Given the description of an element on the screen output the (x, y) to click on. 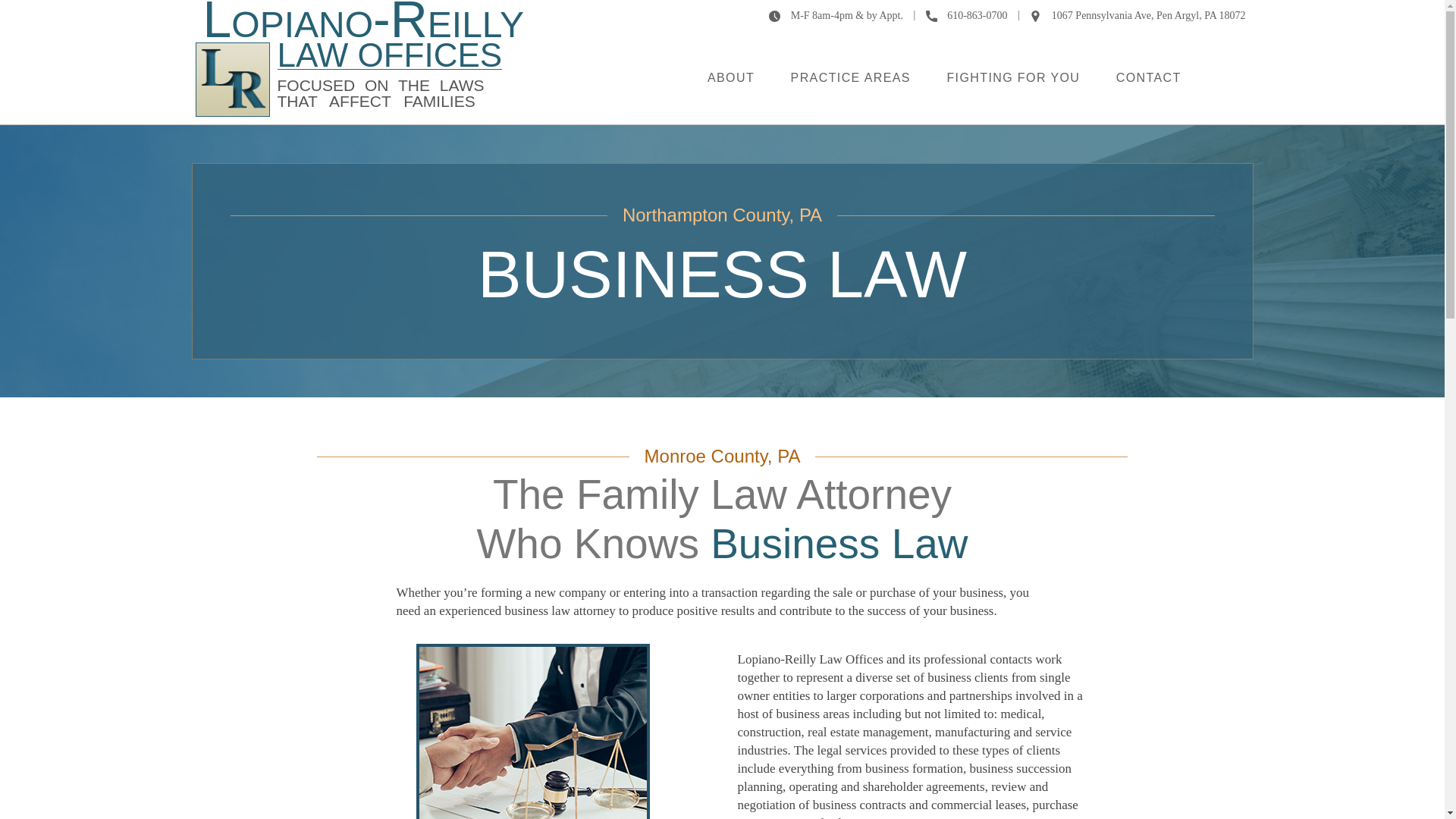
FIGHTING FOR YOU (1013, 77)
CONTACT (1148, 77)
1067 Pennsylvania Ave, Pen Argyl, PA 18072 (1137, 14)
PRACTICE AREAS (850, 77)
610-863-0700 (967, 14)
ABOUT (730, 77)
